Given the description of an element on the screen output the (x, y) to click on. 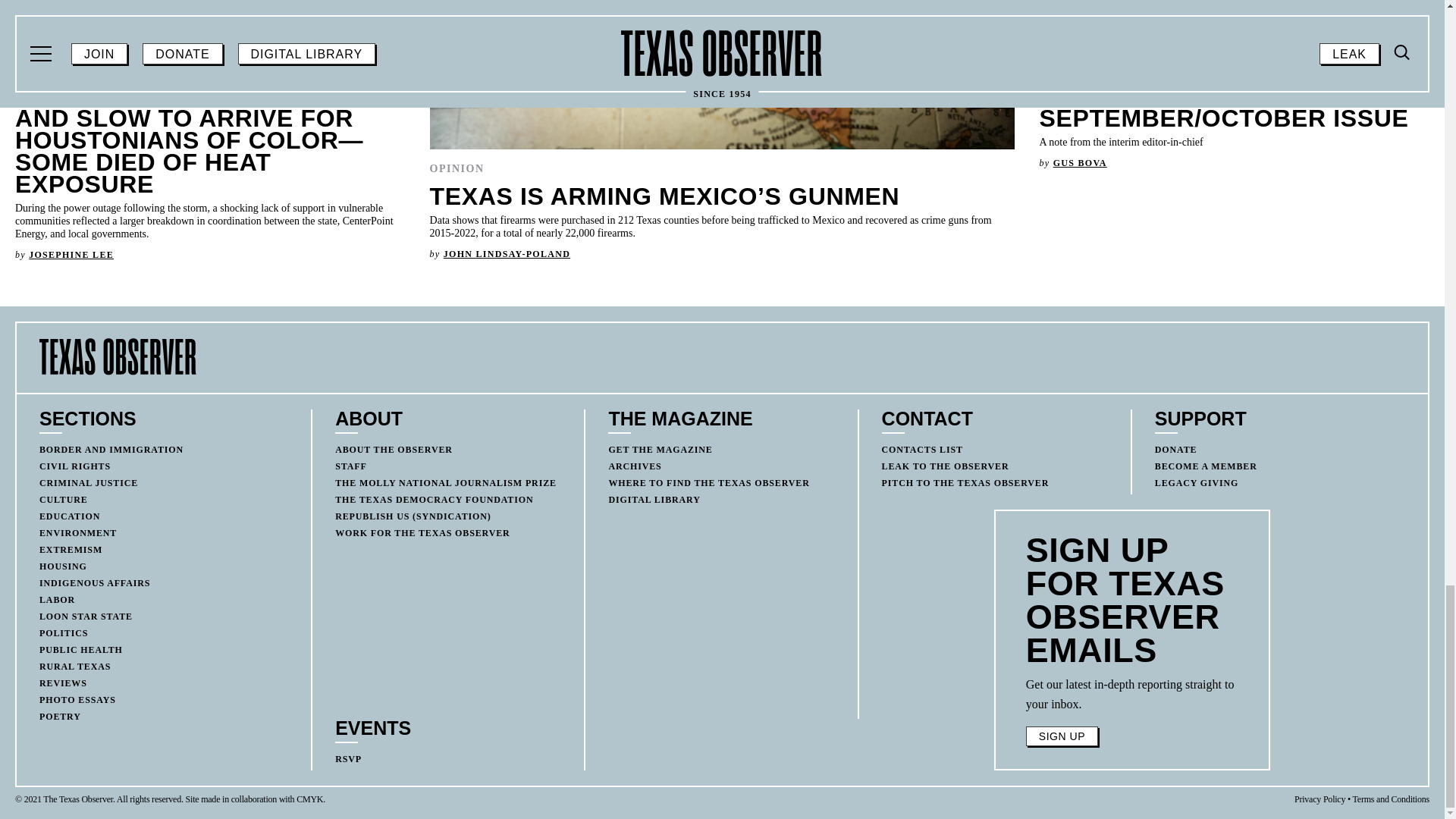
Post by Gus Bova (1079, 163)
Post by John Lindsay-Poland (507, 253)
Post by Josephine Lee (71, 254)
Page 6 (1132, 694)
